Given the description of an element on the screen output the (x, y) to click on. 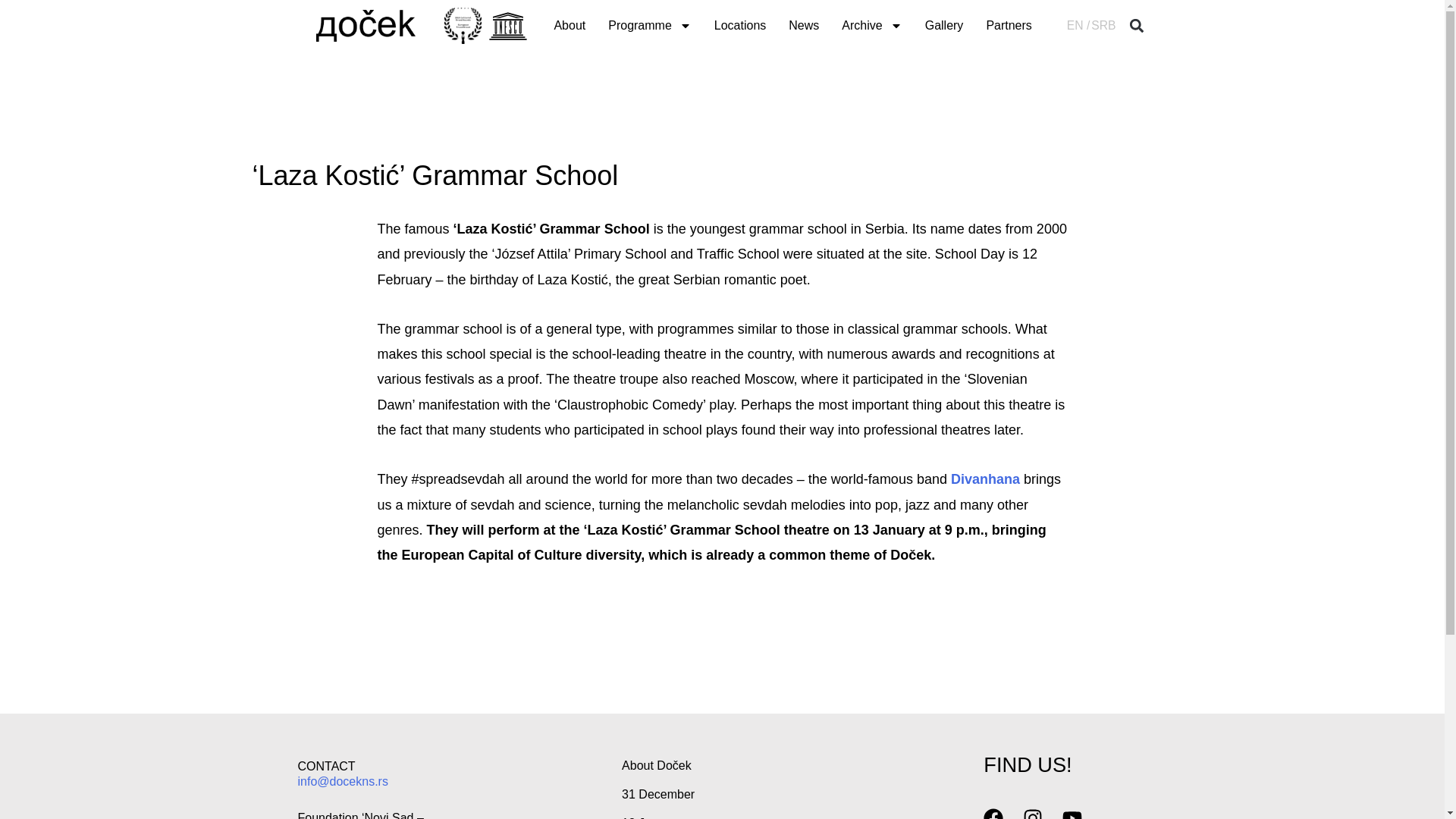
unesco-seeklogo (508, 26)
lovorika (462, 25)
About (568, 25)
